Given the description of an element on the screen output the (x, y) to click on. 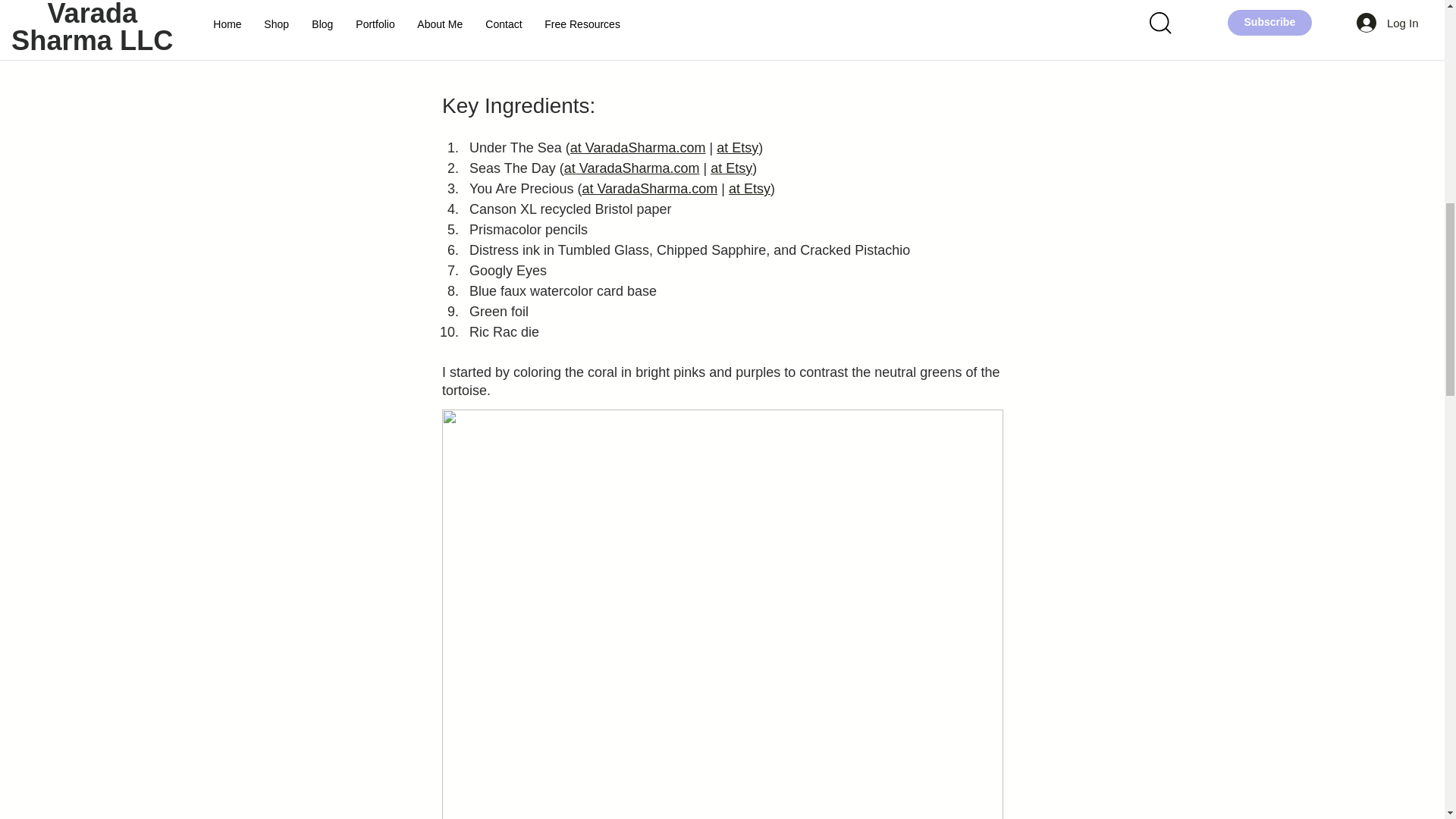
at Etsy (737, 147)
at Etsy (731, 168)
at VaradaSharma.com (630, 168)
at Etsy (749, 188)
at VaradaSharma.com (636, 147)
at VaradaSharma.com (648, 188)
